Given the description of an element on the screen output the (x, y) to click on. 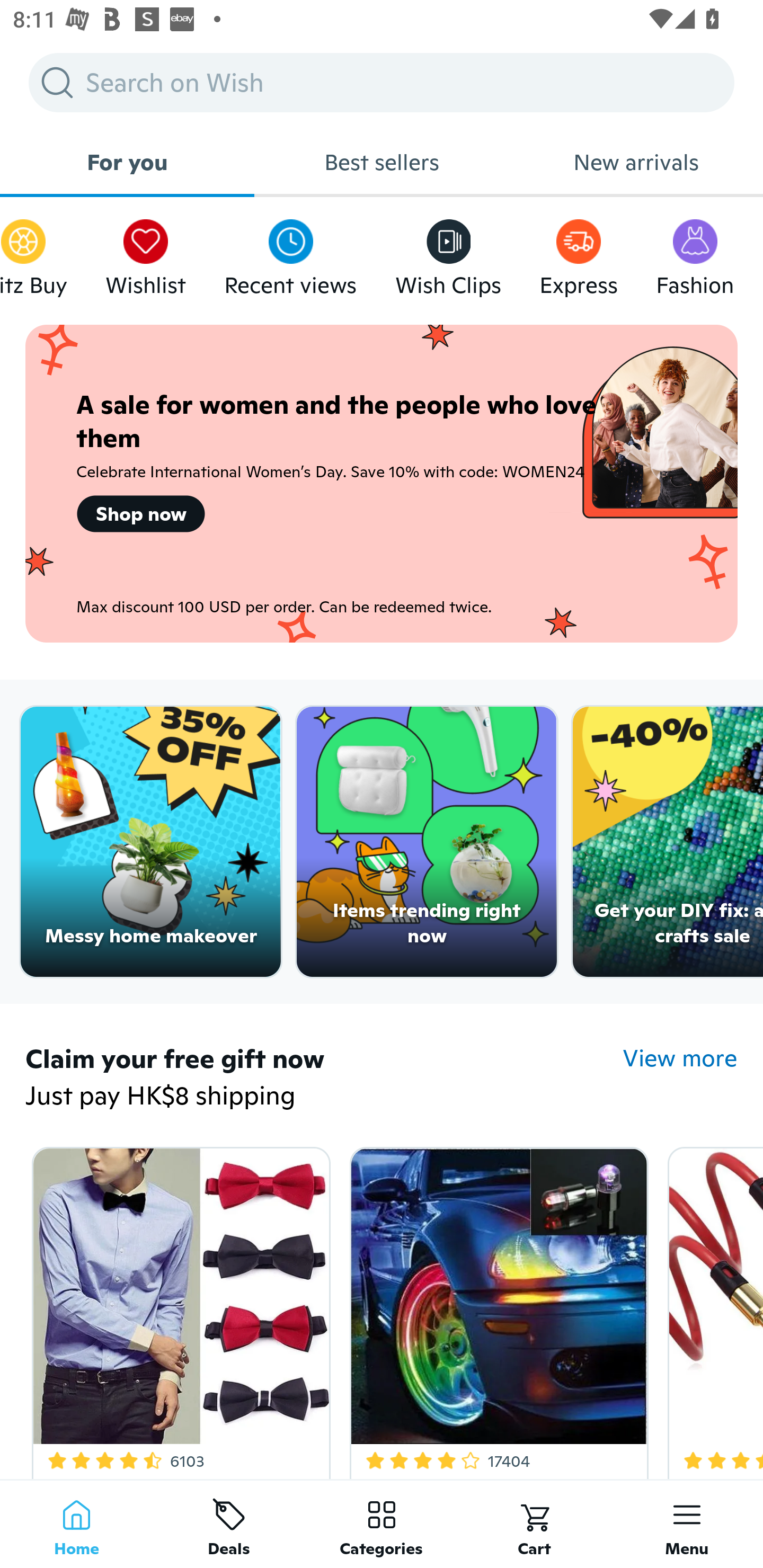
Search on Wish (381, 82)
For you (127, 161)
Best sellers (381, 161)
New arrivals (635, 161)
Blitz Buy (33, 252)
Wishlist (145, 252)
Recent views (290, 252)
Wish Clips (448, 252)
Express (578, 252)
Fashion (695, 252)
Messy home makeover (150, 841)
Items trending right now (426, 841)
Get your DIY fix: arts & crafts sale (668, 841)
Claim your free gift now
Just pay HK$8 shipping (323, 1078)
View more (679, 1058)
4.4 Star Rating 6103 Free (177, 1308)
3.8 Star Rating 17404 Free (495, 1308)
Home (76, 1523)
Deals (228, 1523)
Categories (381, 1523)
Cart (533, 1523)
Menu (686, 1523)
